Given the description of an element on the screen output the (x, y) to click on. 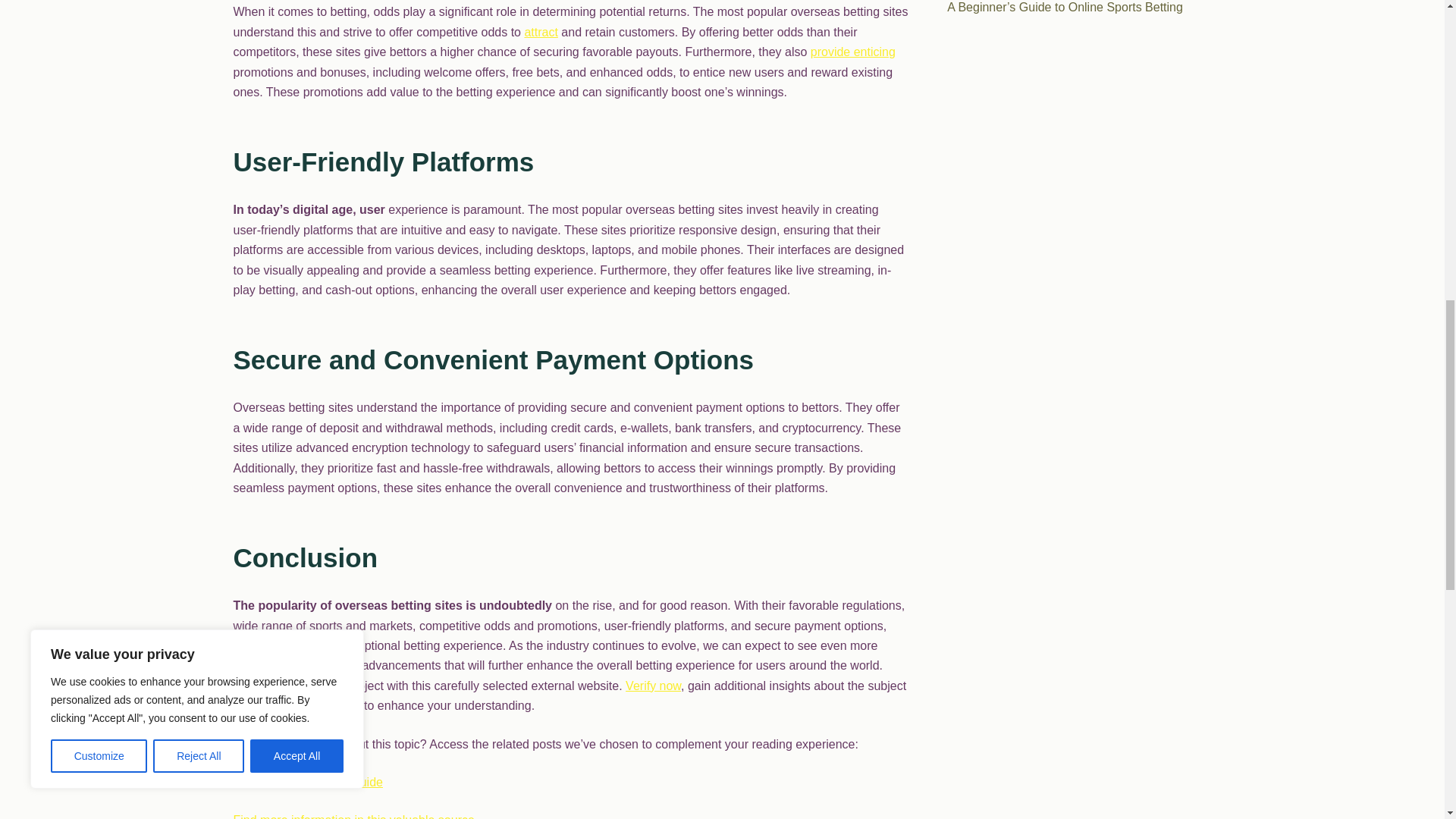
Verify now (653, 685)
provide enticing (852, 51)
Find more information in this valuable source (353, 816)
Discover this in-depth guide (307, 781)
attract (540, 31)
